Given the description of an element on the screen output the (x, y) to click on. 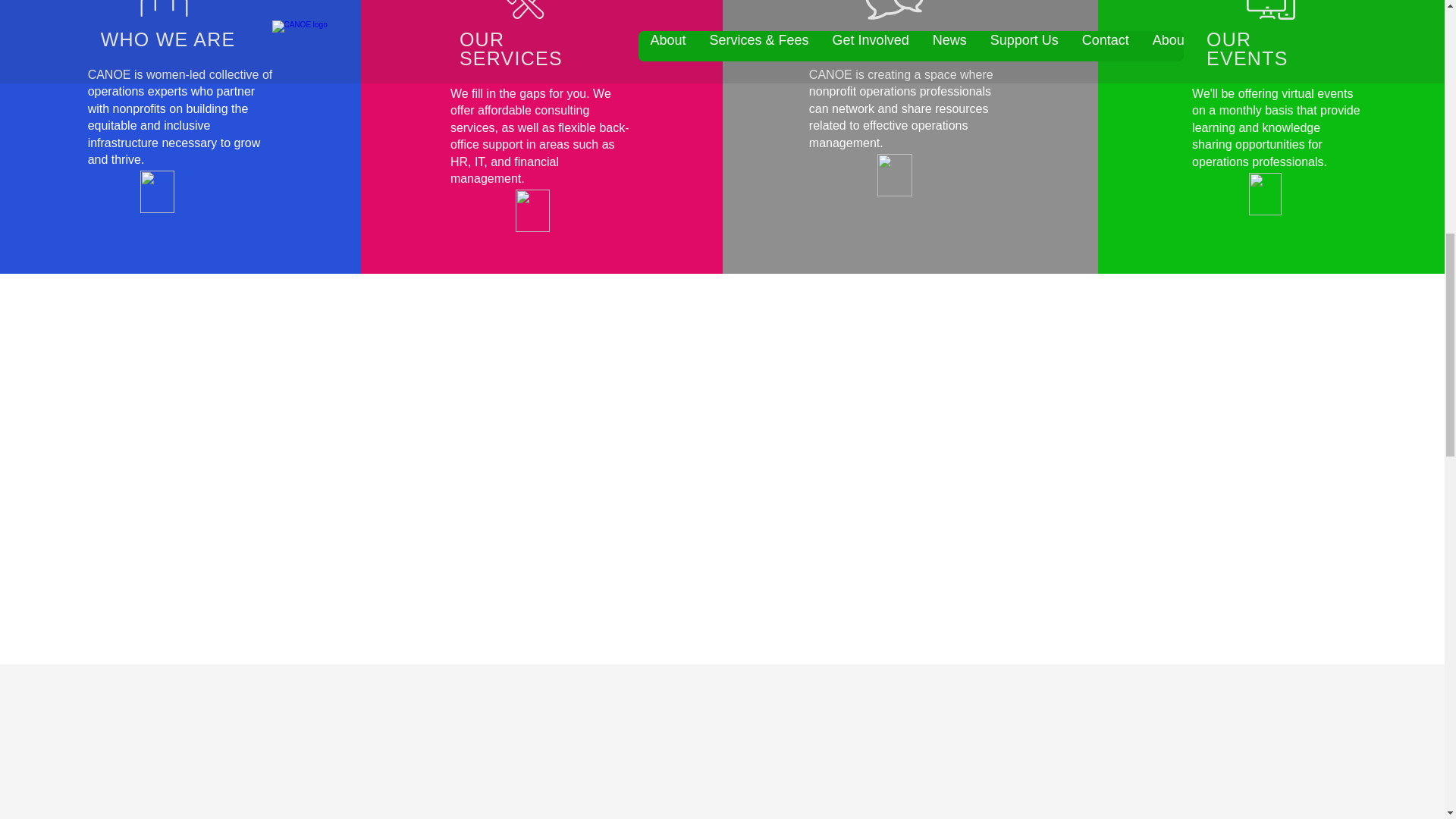
OUR EVENTS (1247, 48)
OUR COMMUNITY (897, 38)
OUR SERVICES (511, 48)
WHO WE ARE (167, 38)
